Given the description of an element on the screen output the (x, y) to click on. 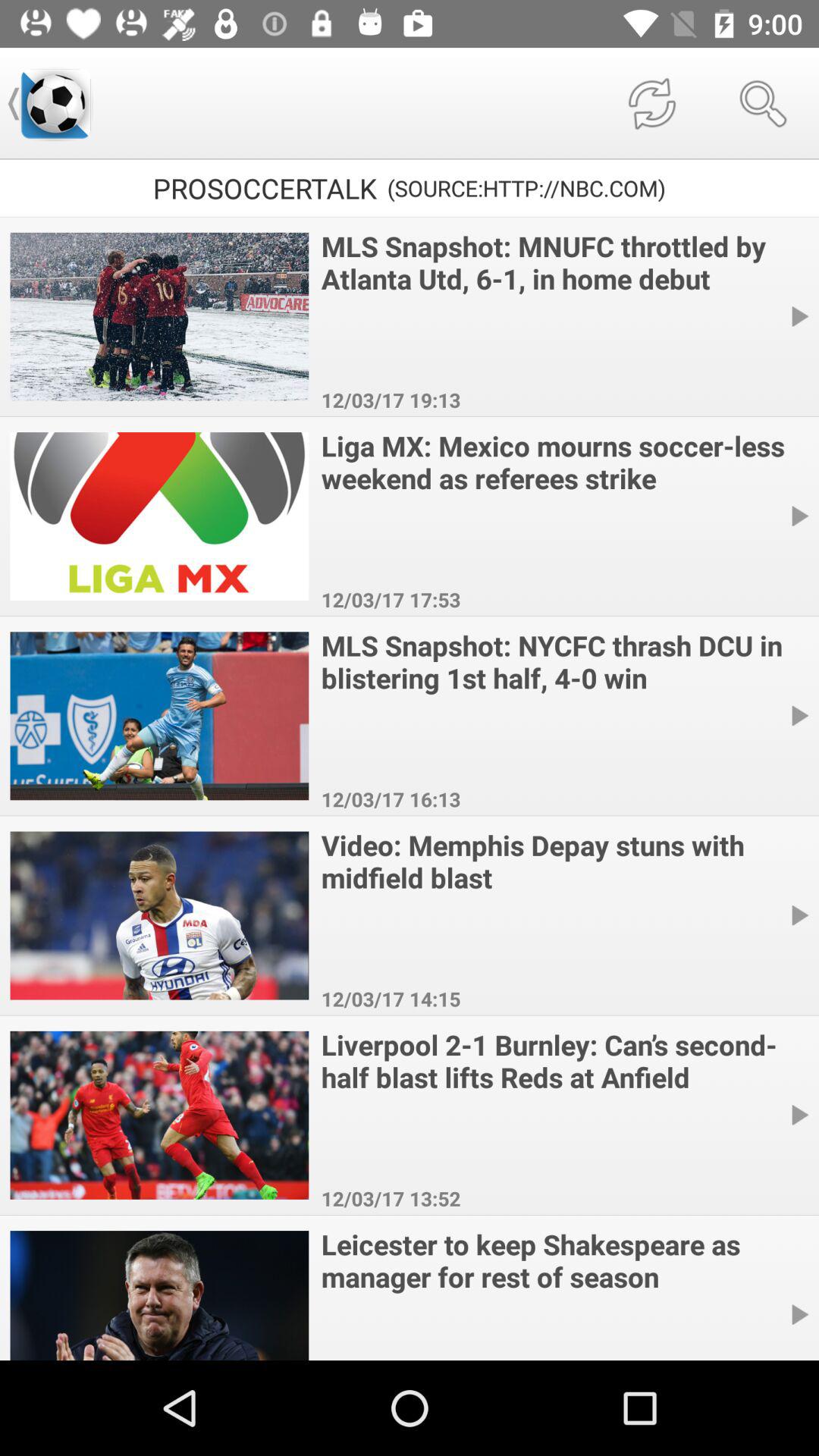
turn off the icon above the source http nbc icon (651, 103)
